Given the description of an element on the screen output the (x, y) to click on. 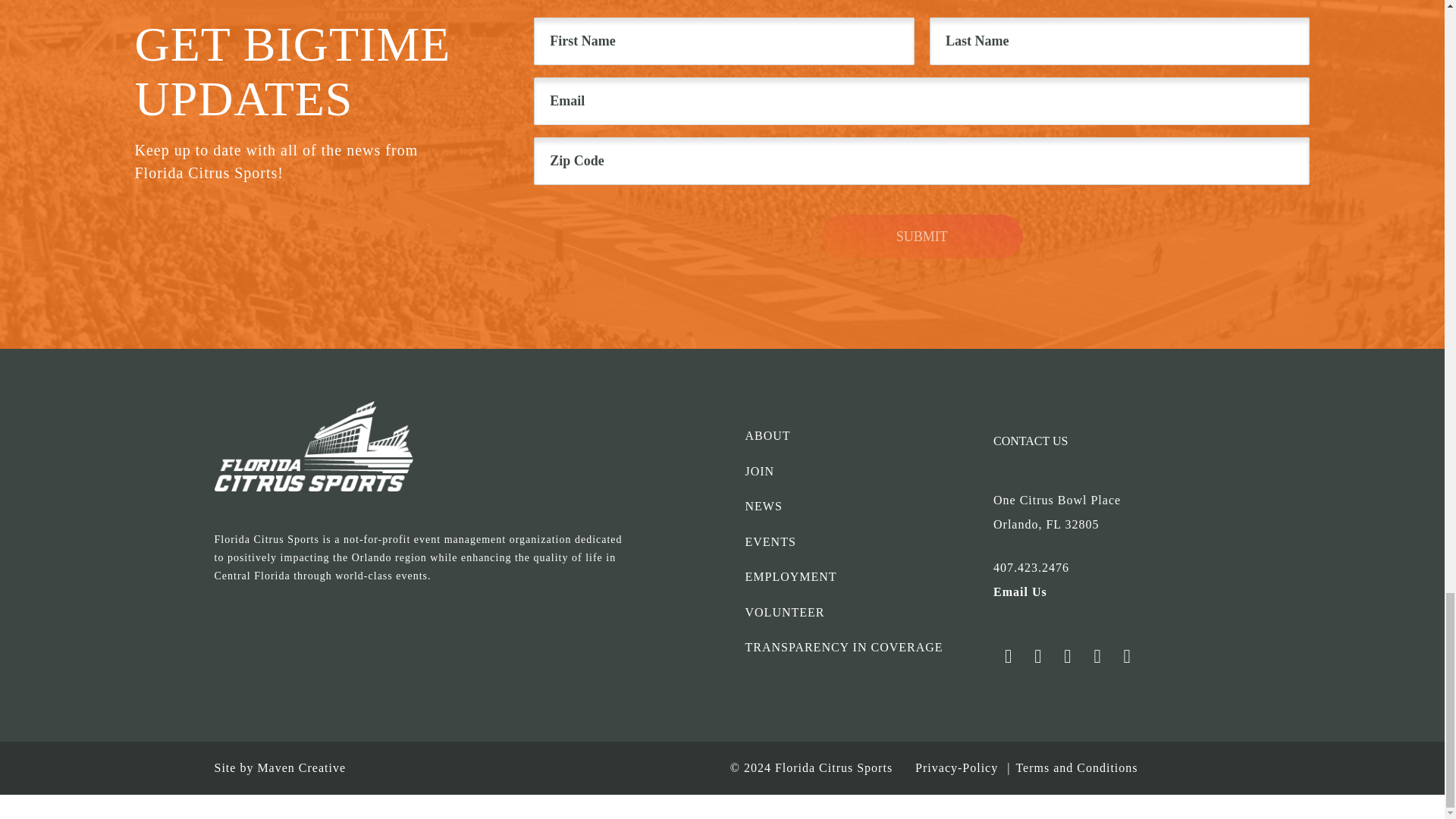
Submit (922, 236)
